Given the description of an element on the screen output the (x, y) to click on. 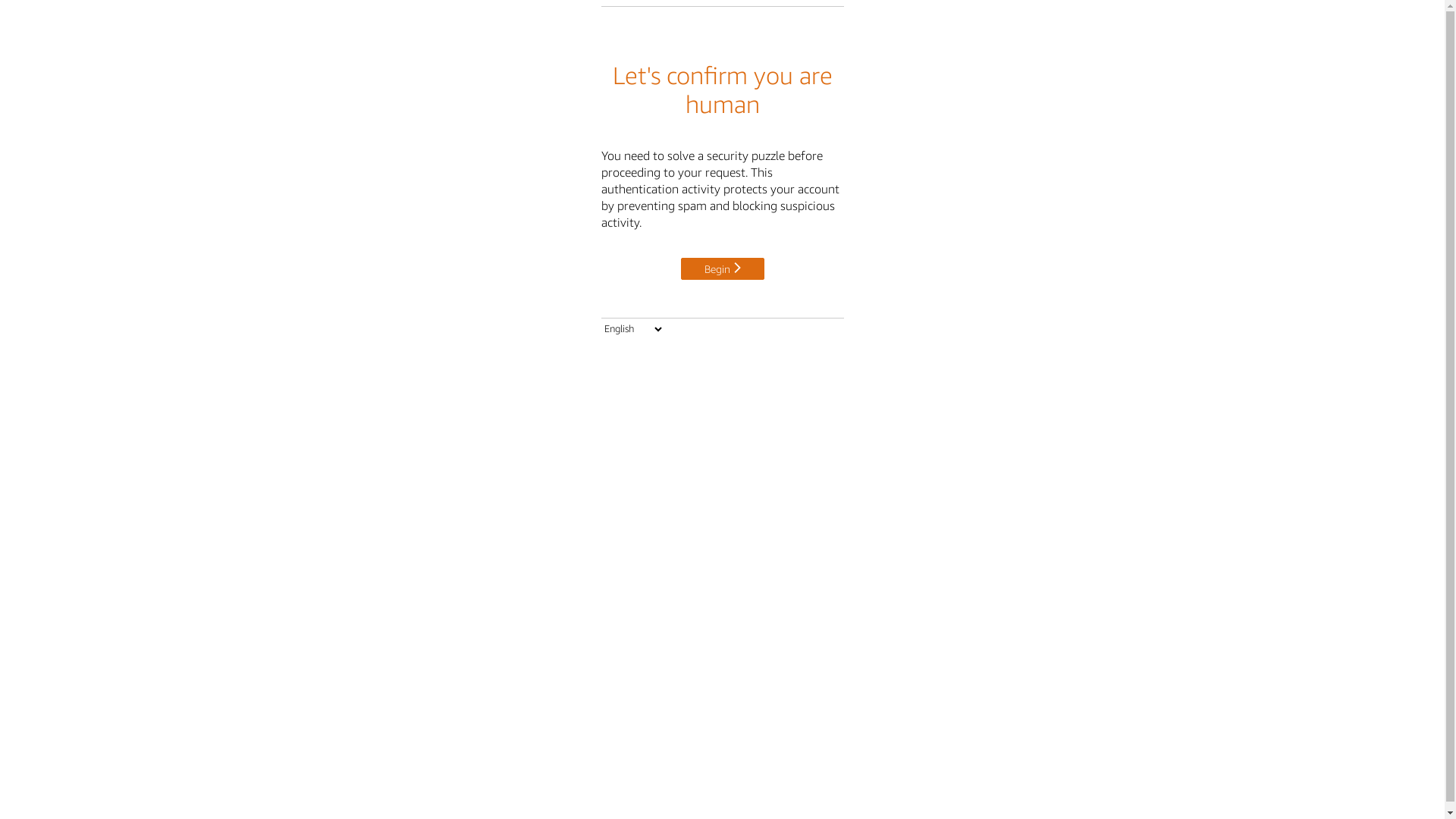
Begin Element type: text (722, 268)
